Given the description of an element on the screen output the (x, y) to click on. 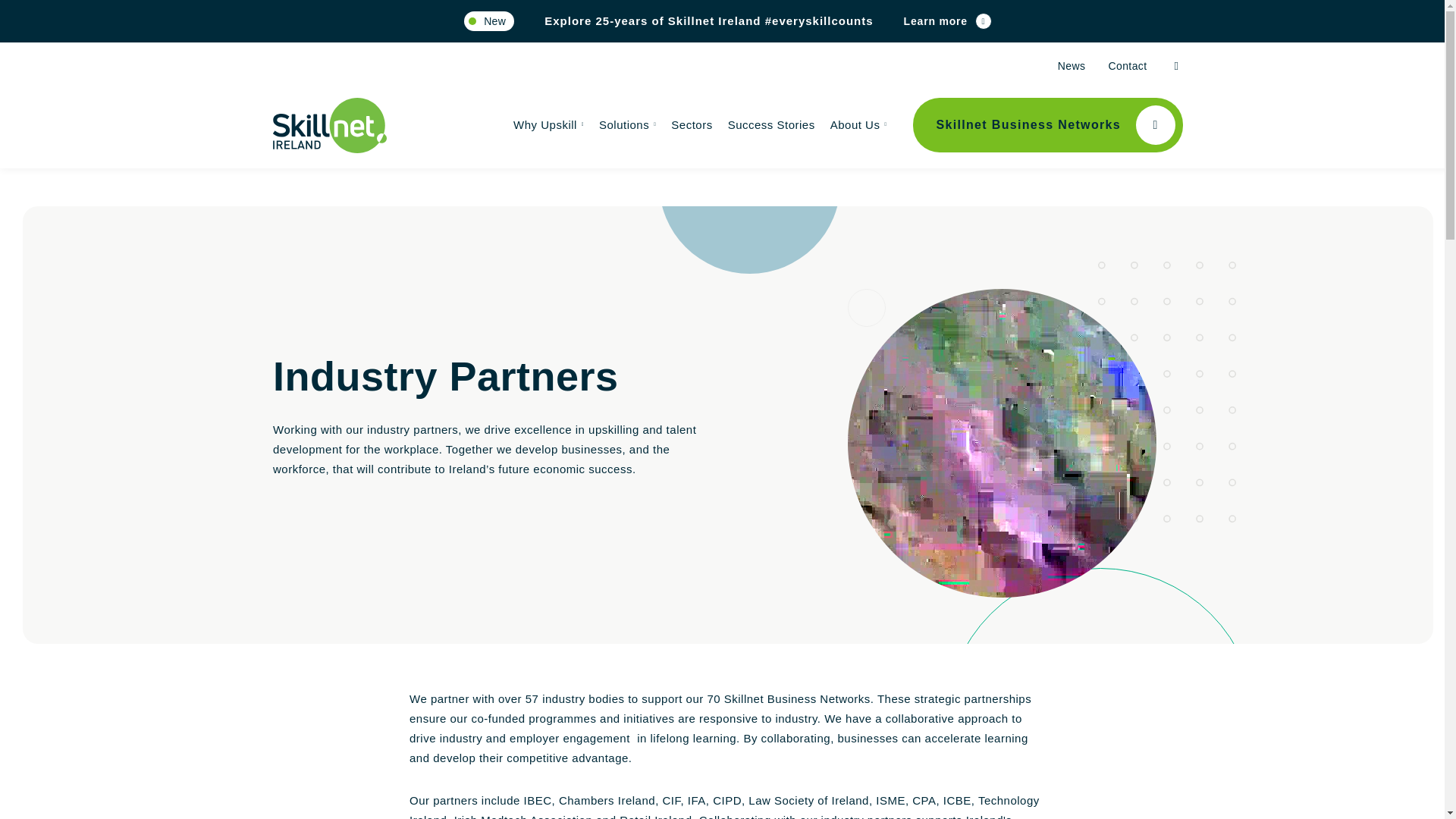
Skillnet Business Networks (1047, 124)
Solutions (627, 125)
About Us (857, 125)
Learn more (947, 21)
News (1072, 66)
Why Upskill (548, 125)
Success Stories (771, 125)
Contact (1127, 66)
Sectors (691, 125)
